Given the description of an element on the screen output the (x, y) to click on. 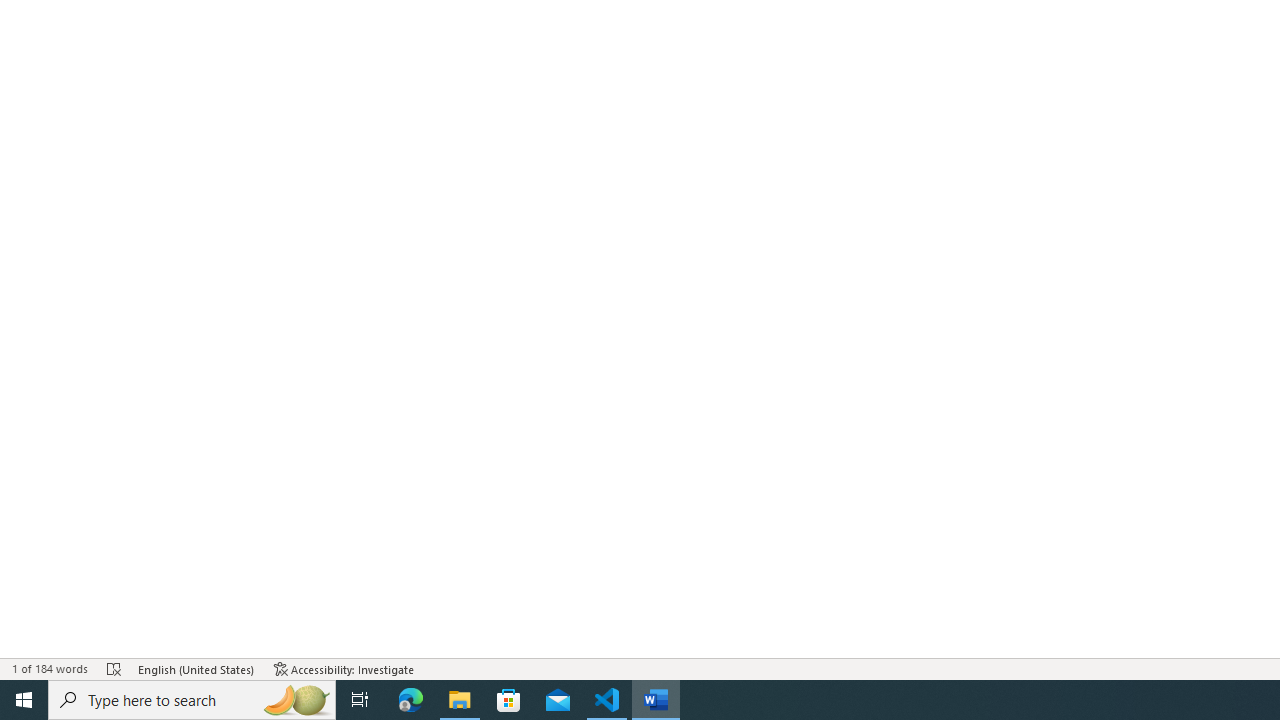
Word Count 1 of 184 words (49, 668)
